Given the description of an element on the screen output the (x, y) to click on. 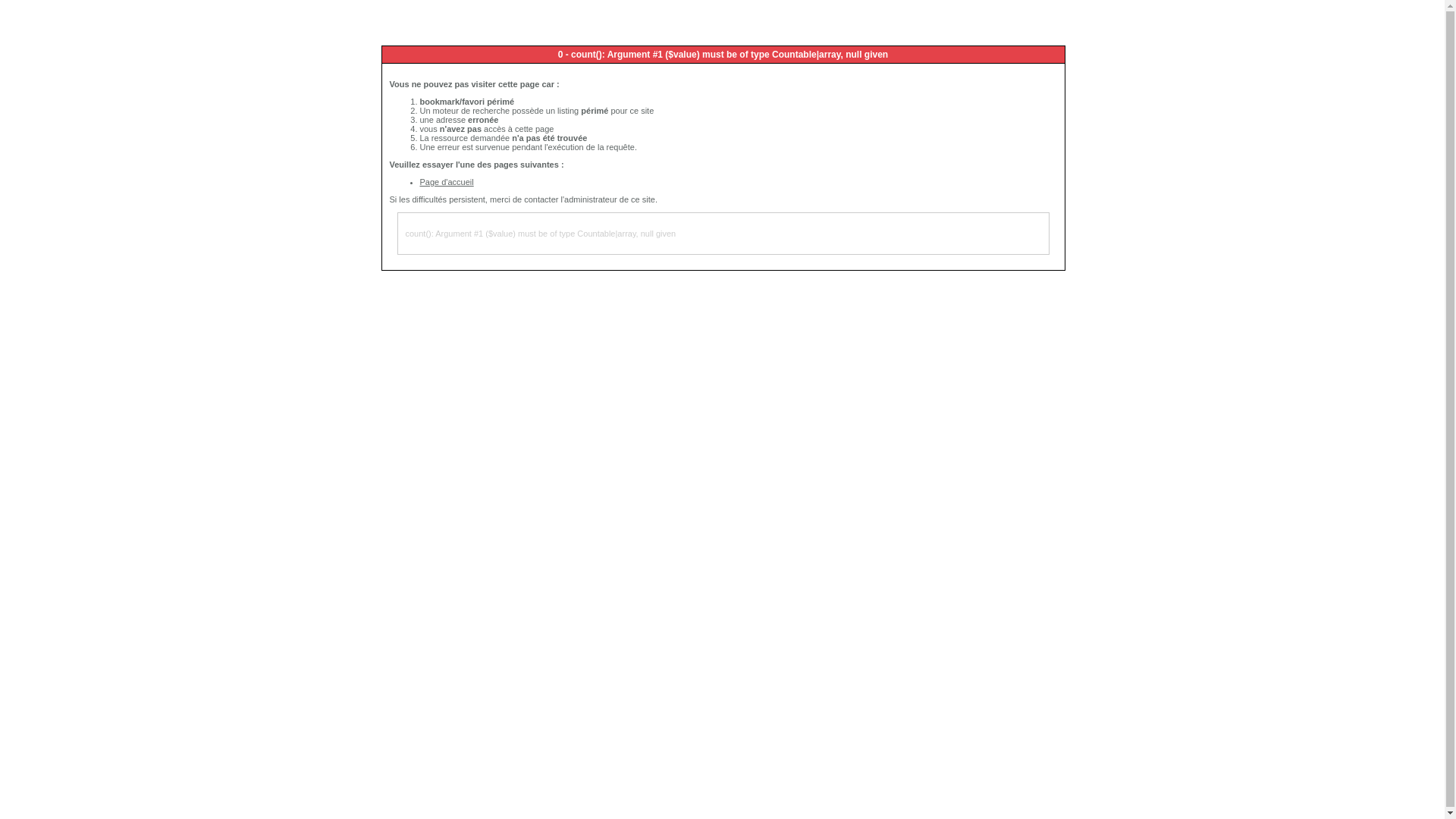
Page d'accueil Element type: text (446, 181)
